Given the description of an element on the screen output the (x, y) to click on. 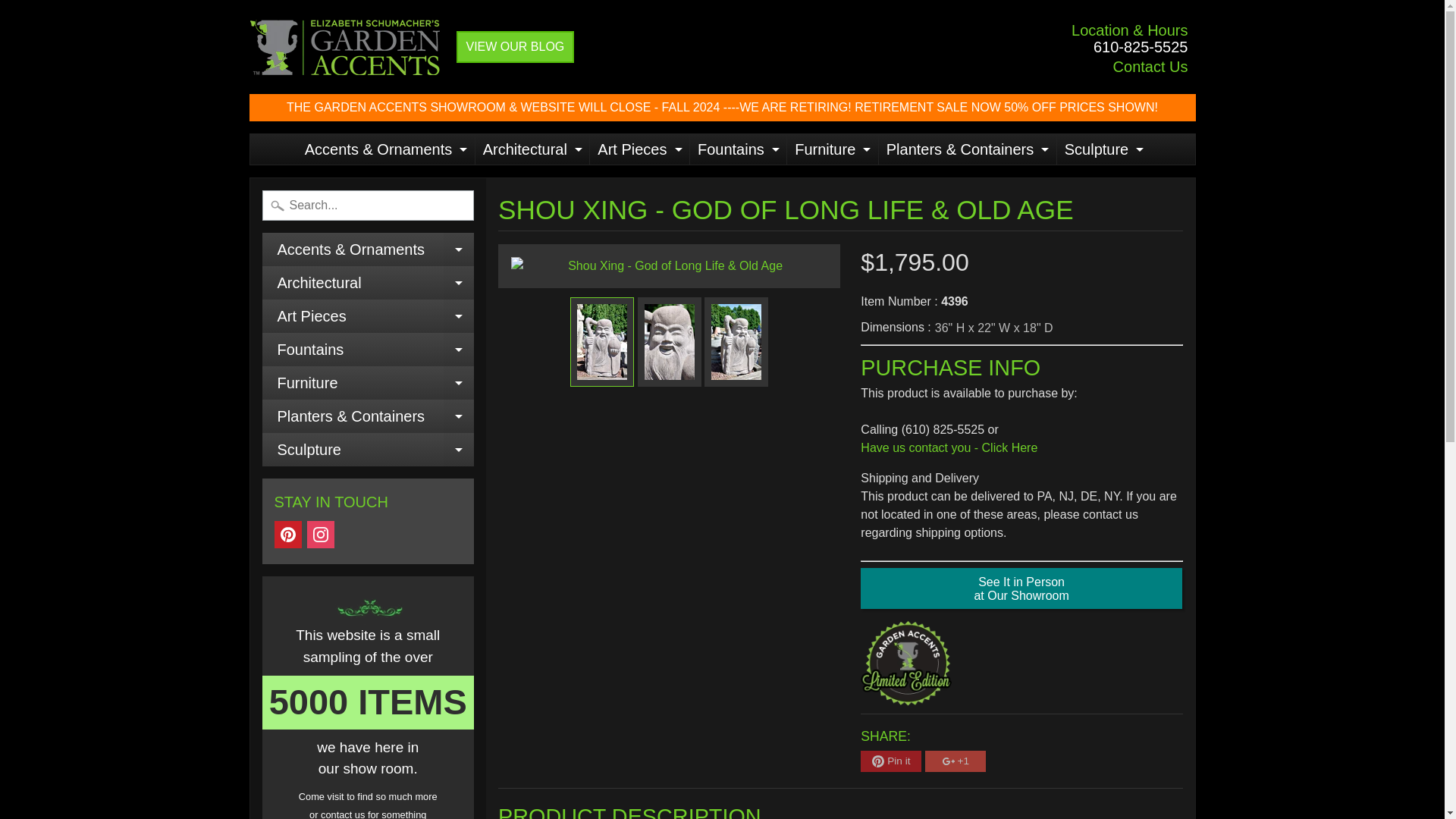
gardenaccents (736, 149)
Contact Us (351, 47)
Instagram (1150, 66)
Pin on Pinterest (320, 533)
VIEW OUR BLOG (531, 149)
Pinterest (890, 761)
